Given the description of an element on the screen output the (x, y) to click on. 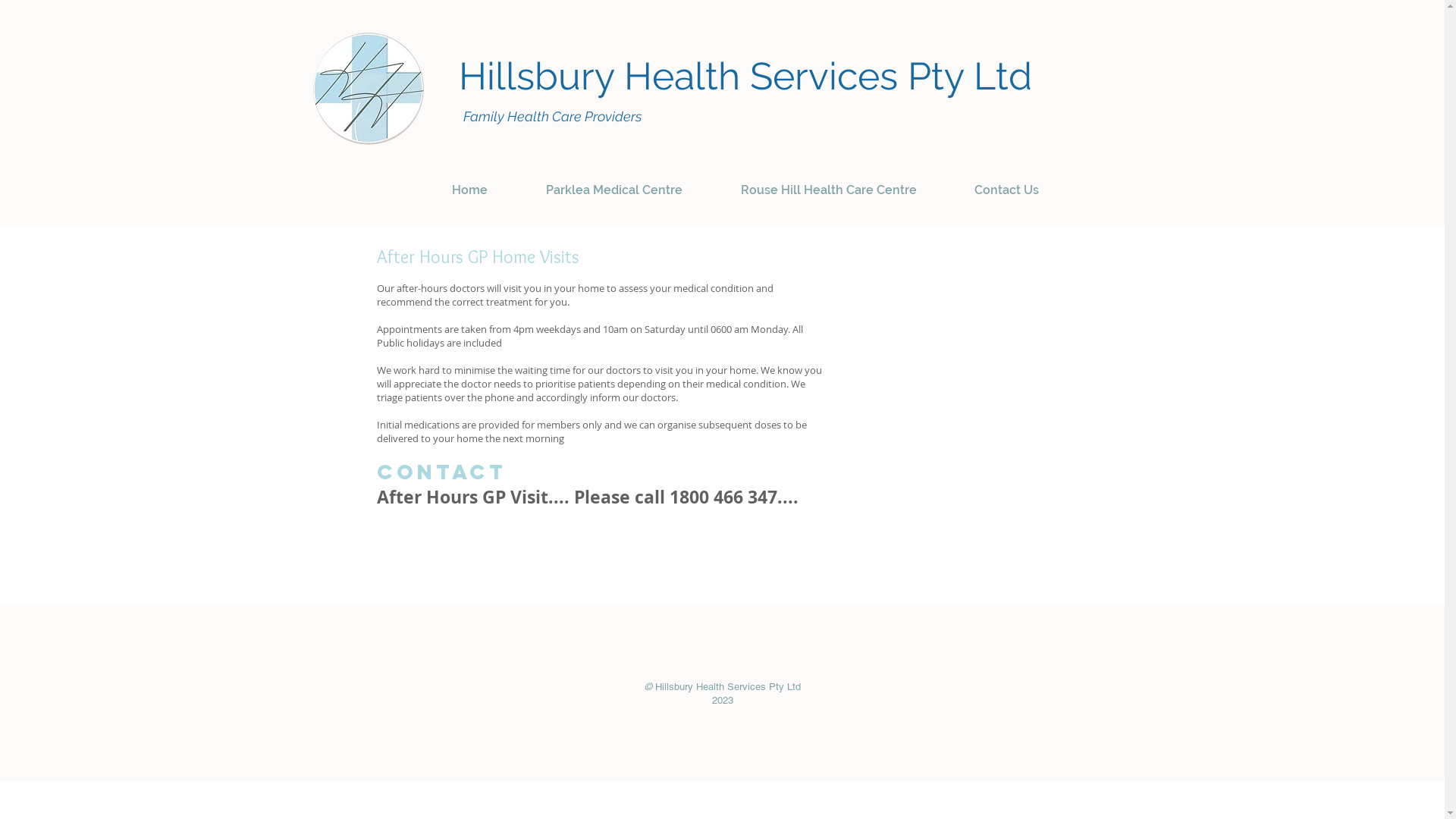
Hillsbury Logo Final 9.jpg Element type: hover (367, 88)
Rouse Hill Health Care Centre Element type: text (827, 183)
Parklea Medical Centre Element type: text (614, 183)
Home Element type: text (470, 183)
Hillsbury Health Services Pty Ltd Element type: text (745, 75)
Contact Us Element type: text (1005, 183)
